Given the description of an element on the screen output the (x, y) to click on. 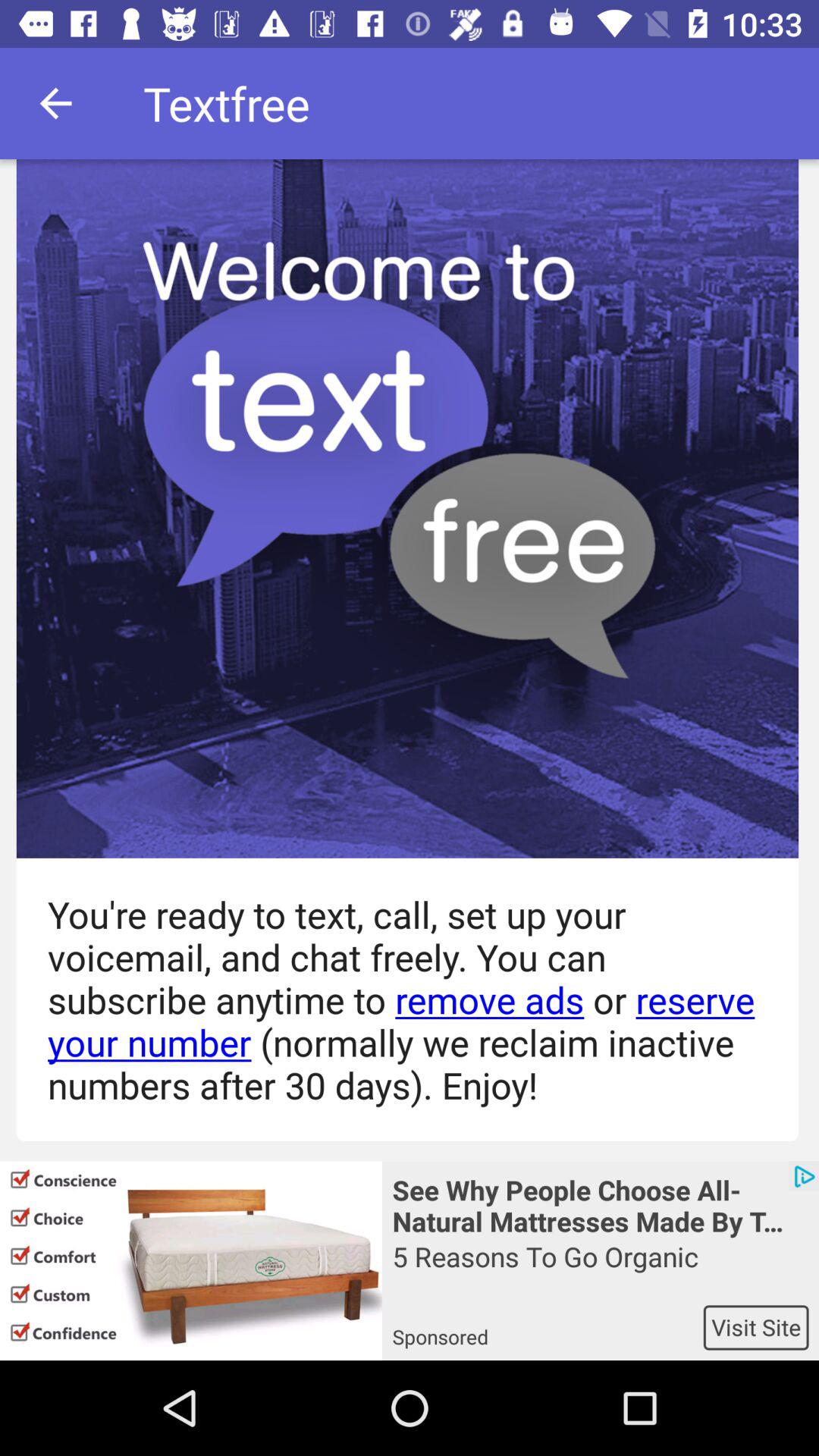
select icon next to the visit site icon (547, 1327)
